Given the description of an element on the screen output the (x, y) to click on. 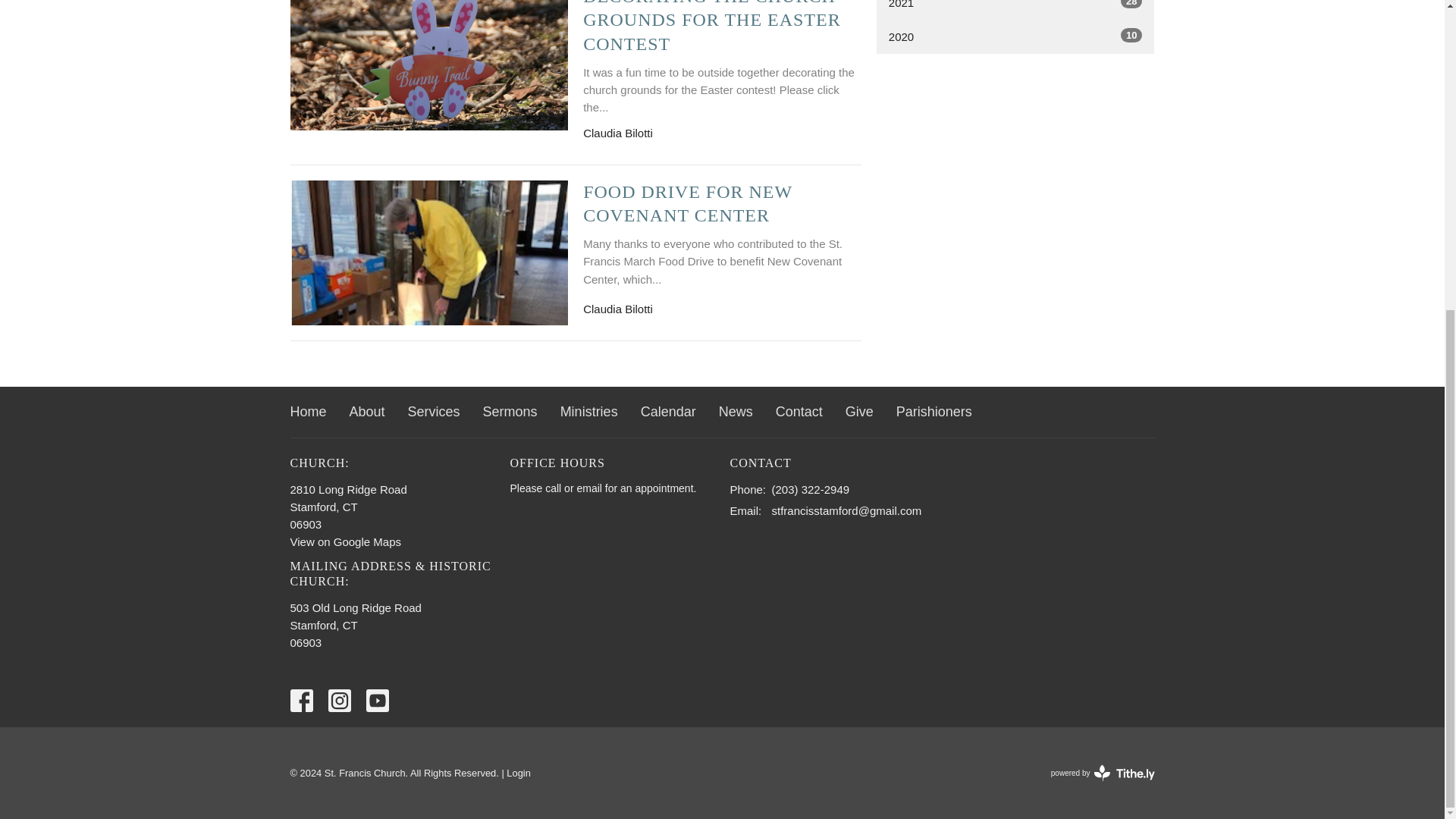
translation missing: en.ui.email (743, 510)
